Given the description of an element on the screen output the (x, y) to click on. 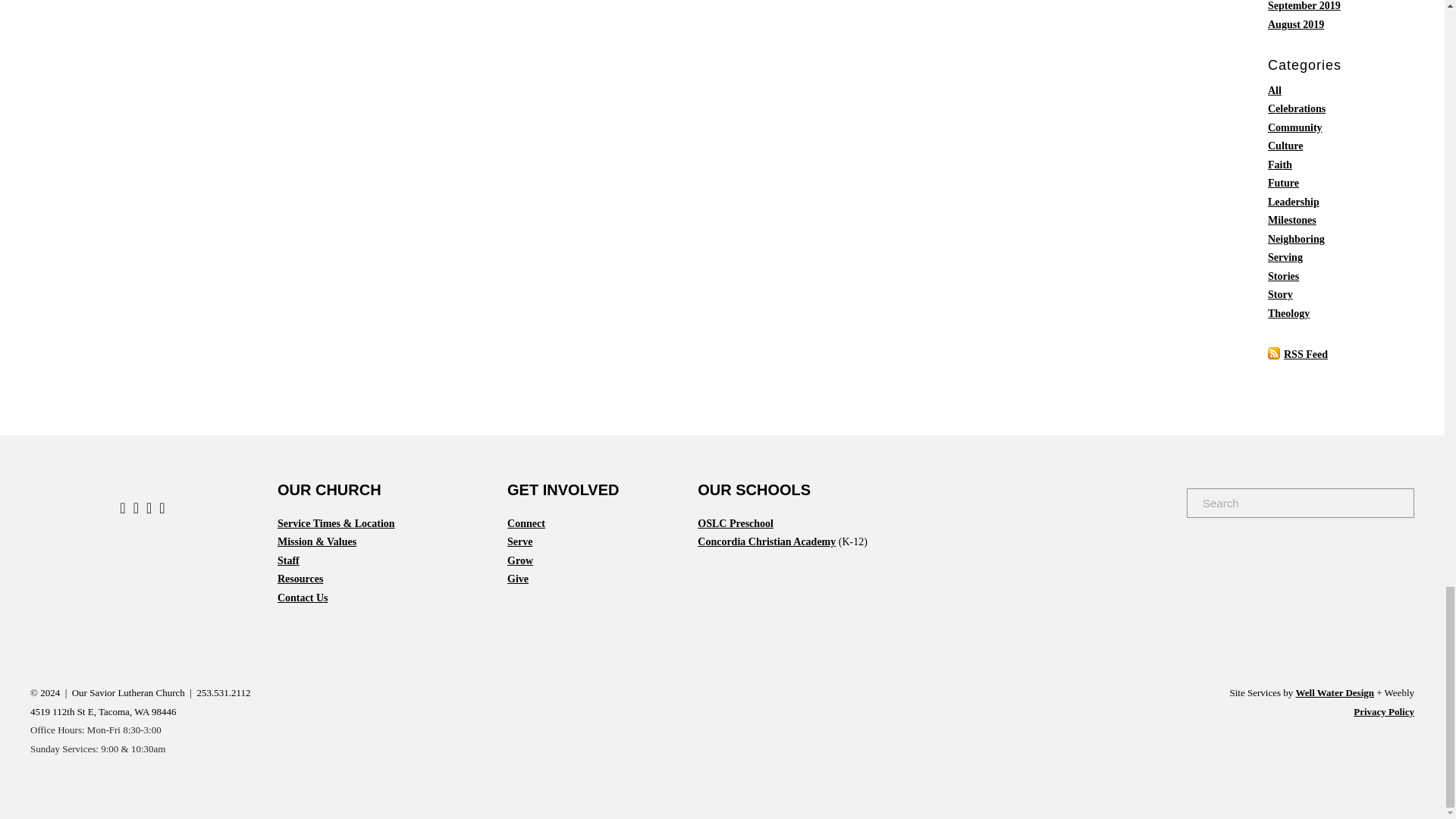
Search (1402, 501)
